Given the description of an element on the screen output the (x, y) to click on. 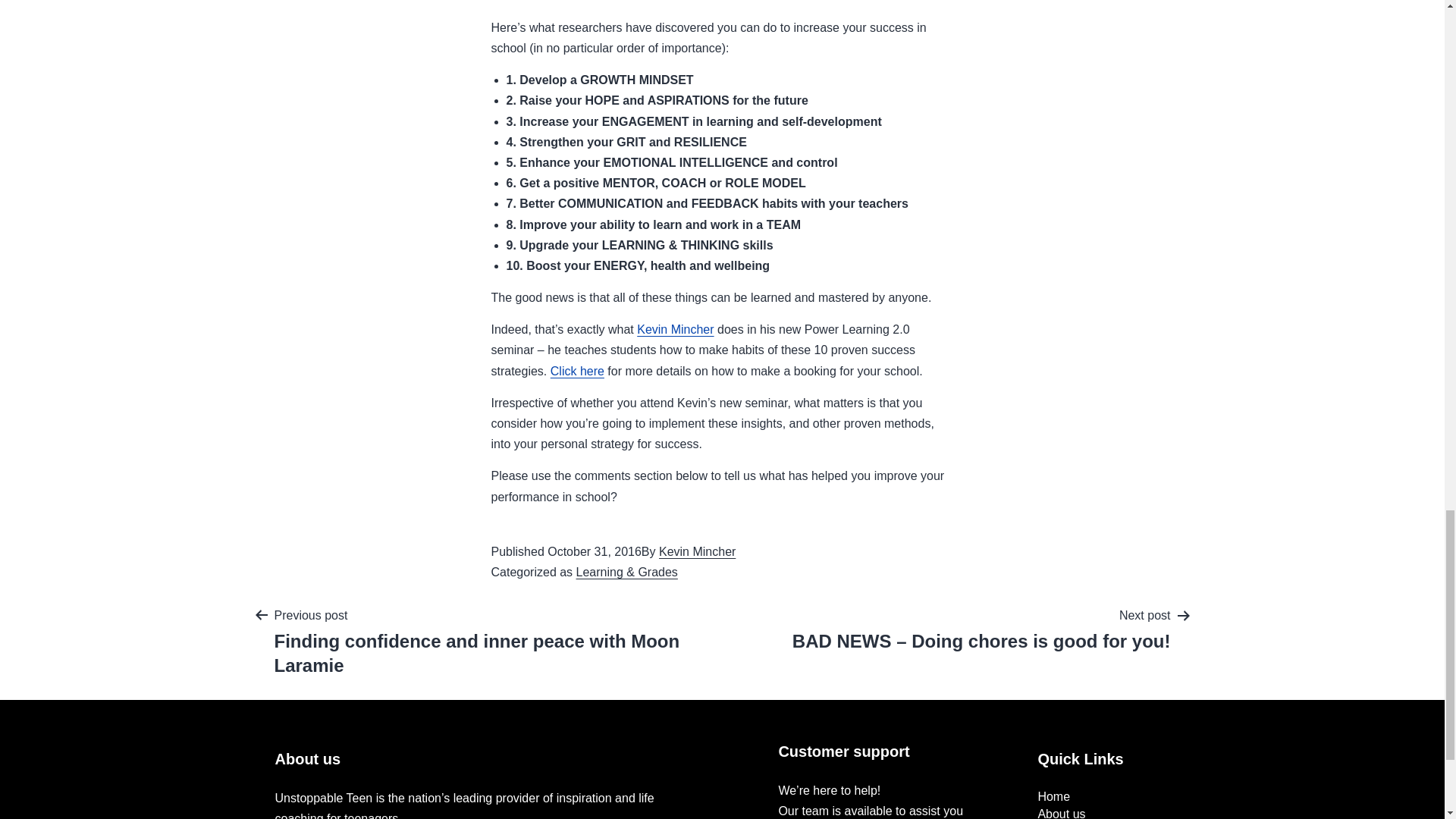
Kevin Mincher (697, 551)
Home (1053, 796)
Kevin Mincher (675, 328)
Click here (577, 370)
About us (1060, 813)
